Given the description of an element on the screen output the (x, y) to click on. 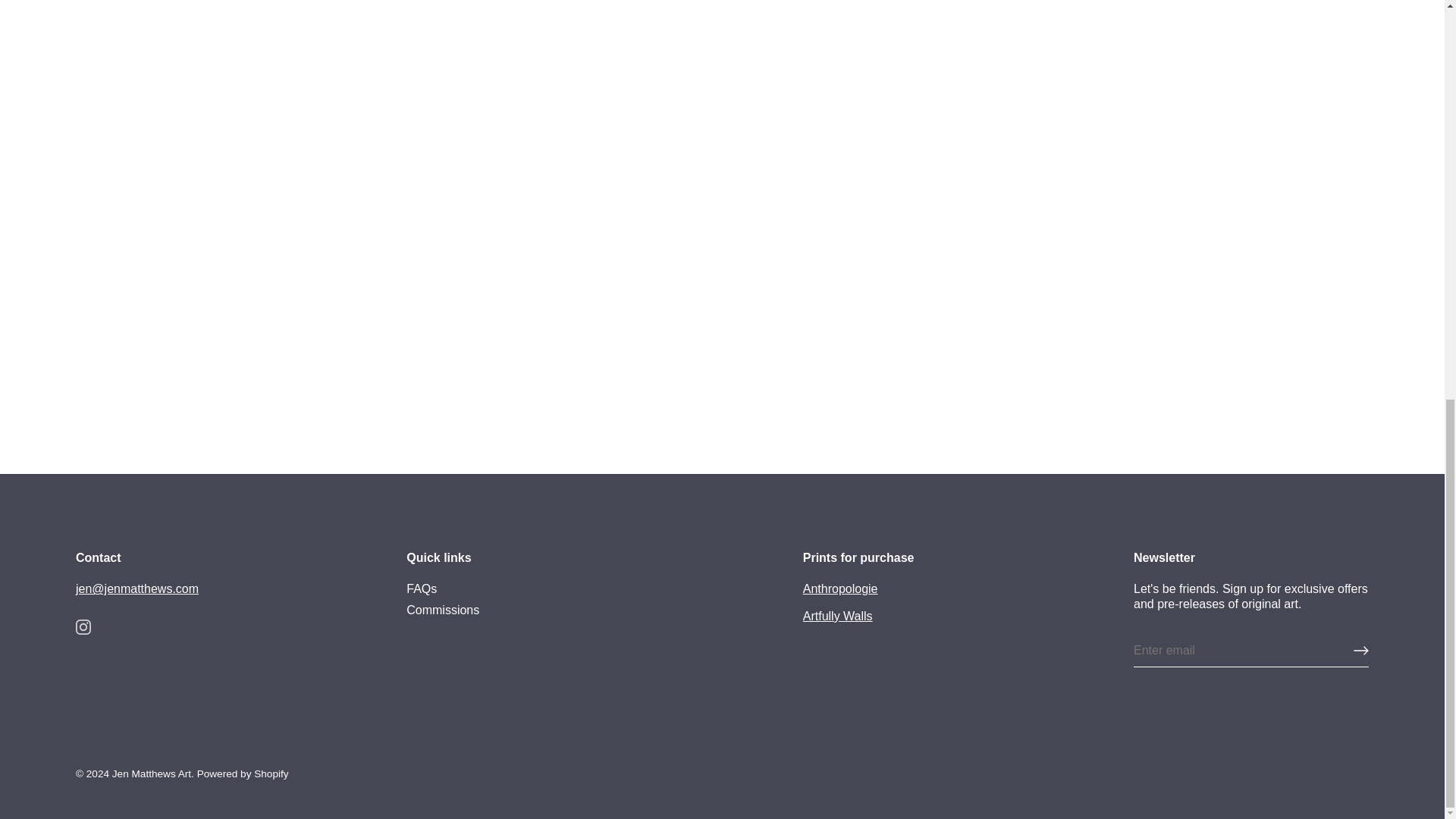
RIGHT ARROW LONG (1361, 650)
Artfully Walls (837, 615)
RIGHT ARROW LONG (1361, 650)
Powered by Shopify (242, 773)
FAQs (421, 588)
Commissions (442, 609)
Jen Matthews Art (151, 773)
Instagram (82, 626)
Anthropologie (840, 588)
Instagram (82, 626)
